Given the description of an element on the screen output the (x, y) to click on. 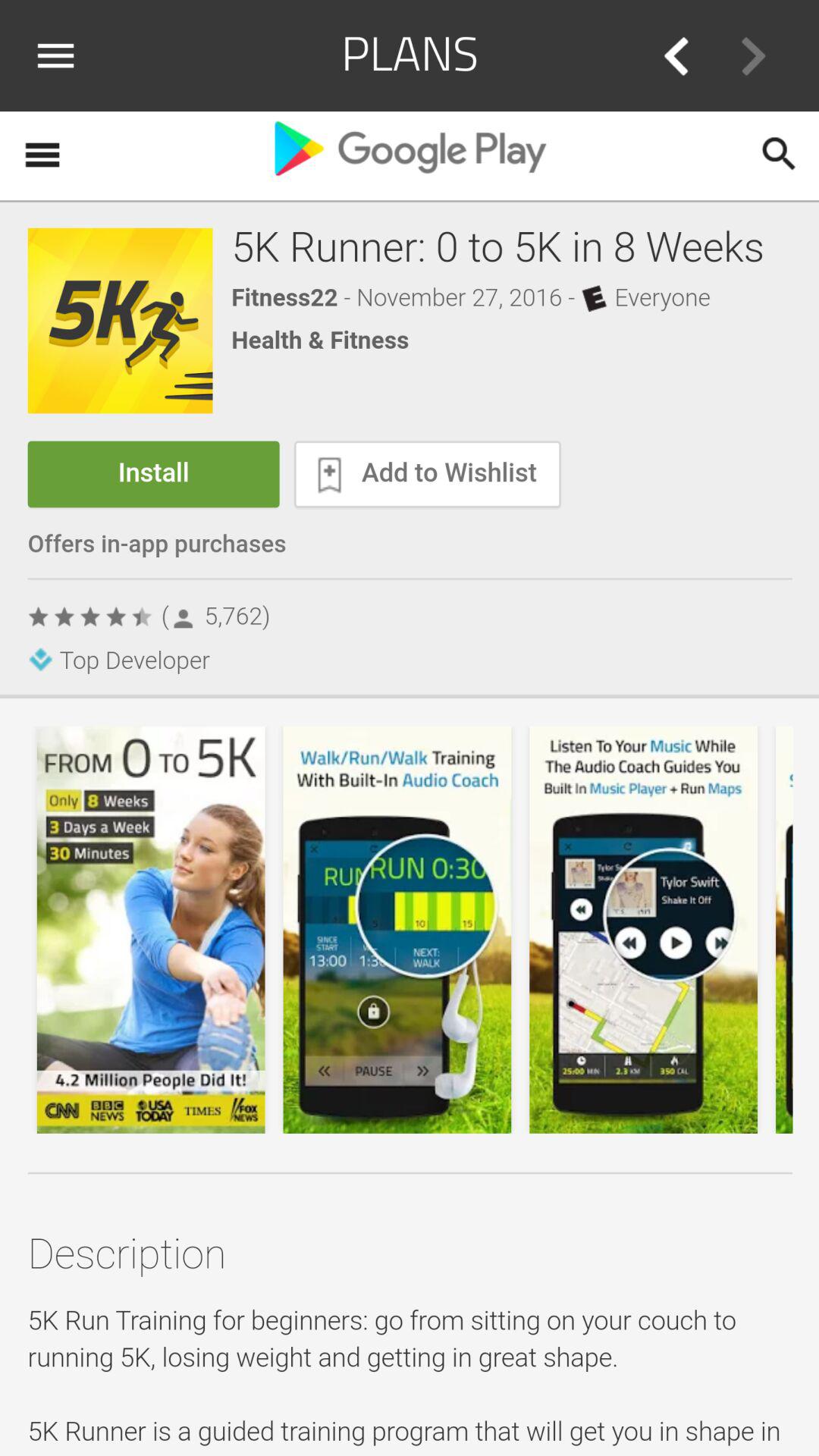
click to got to next plan (753, 55)
